Given the description of an element on the screen output the (x, y) to click on. 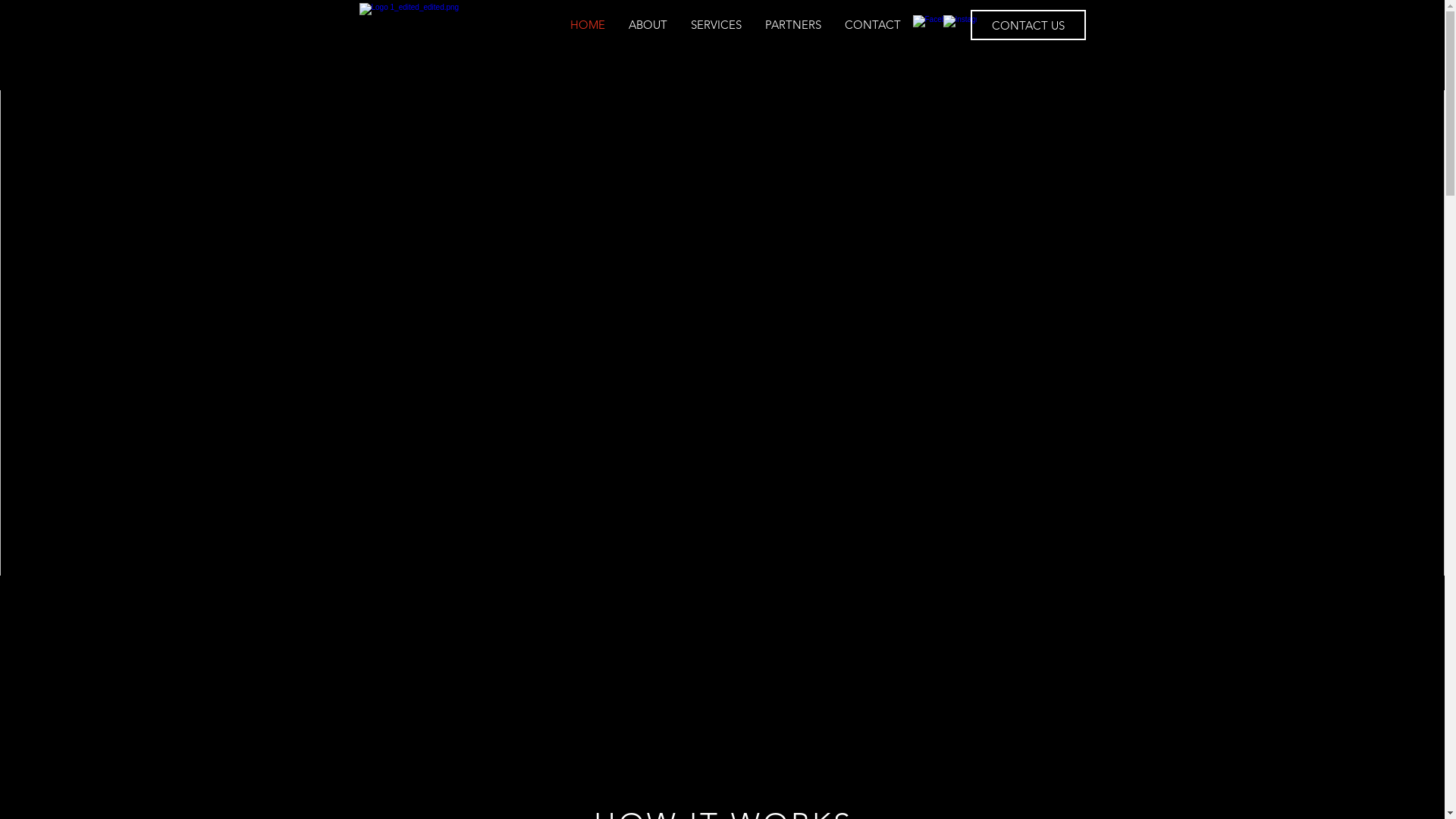
HOME Element type: text (587, 24)
SERVICES Element type: text (716, 24)
CONTACT Element type: text (872, 24)
CONTACT US Element type: text (1027, 24)
PARTNERS Element type: text (793, 24)
ABOUT Element type: text (648, 24)
